Given the description of an element on the screen output the (x, y) to click on. 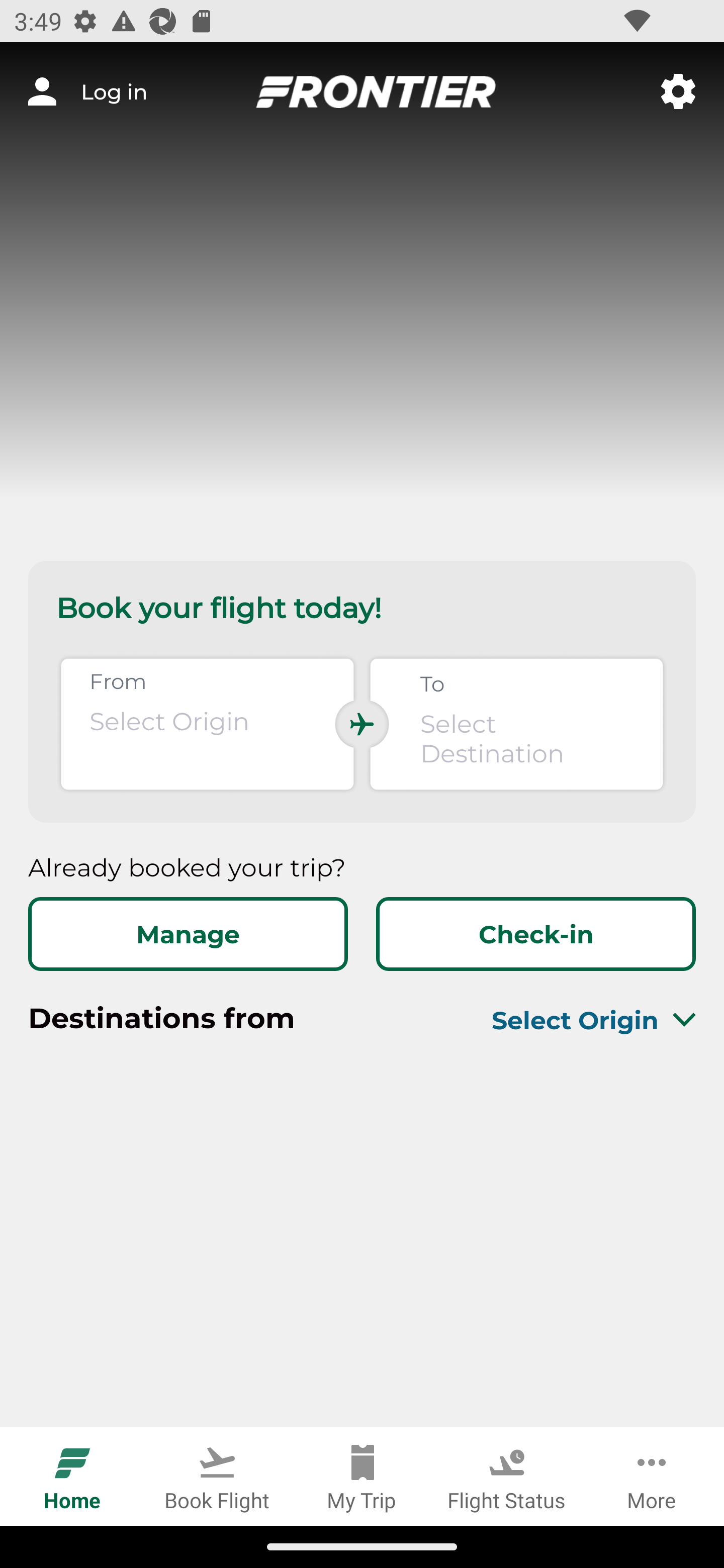
Log in (87, 91)
From Select Origin (207, 723)
To Select Destination (516, 723)
Manage (188, 933)
Check-in (535, 933)
Select Origin (570, 1019)
Book Flight (216, 1475)
My Trip (361, 1475)
Flight Status (506, 1475)
More (651, 1475)
